Given the description of an element on the screen output the (x, y) to click on. 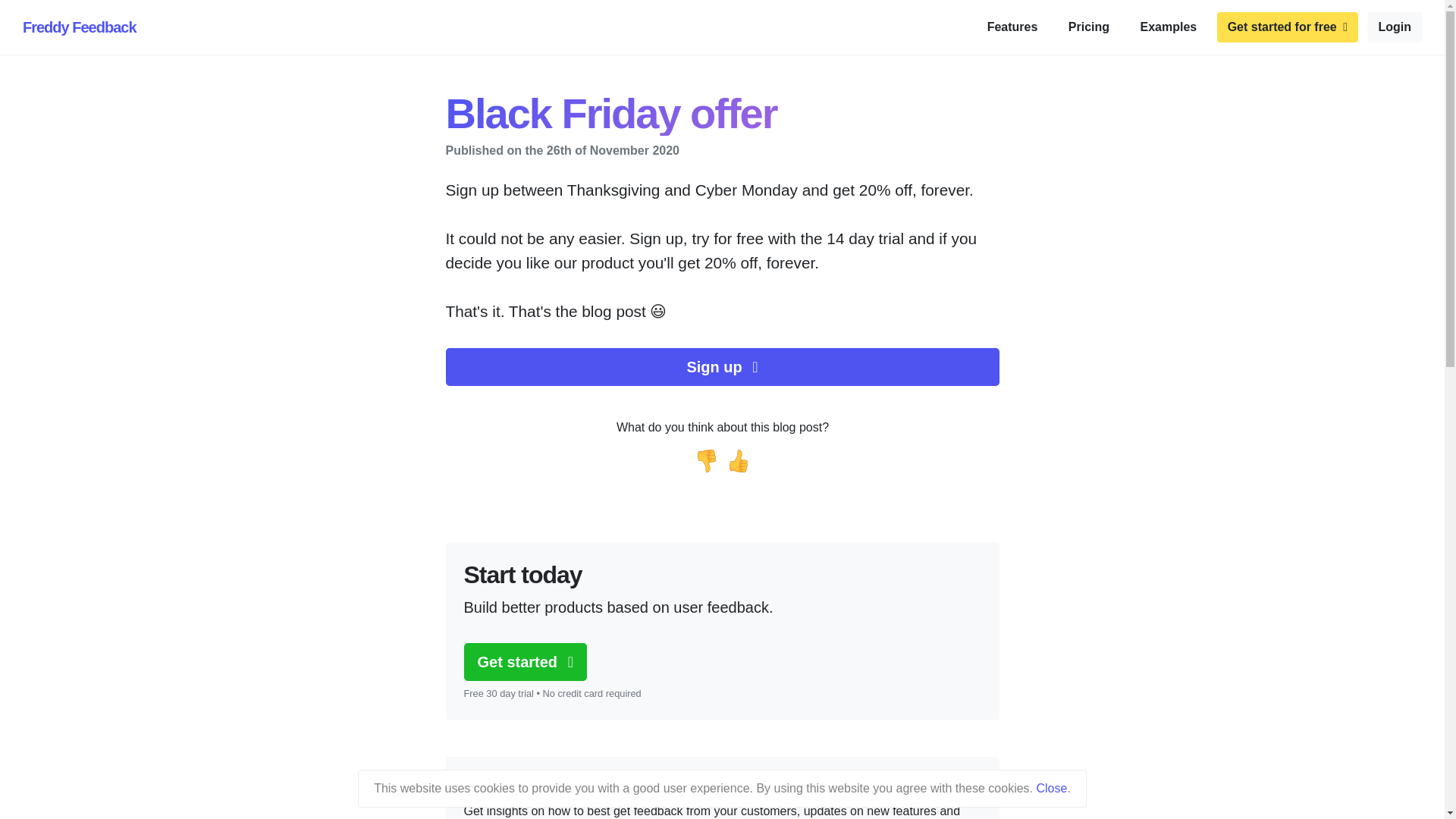
Get started (525, 661)
Freddy Feedback (79, 27)
Features (1012, 27)
Examples (1168, 27)
Sign up (721, 366)
Pricing (1088, 27)
Login (1394, 27)
Get started for free (1287, 27)
